Given the description of an element on the screen output the (x, y) to click on. 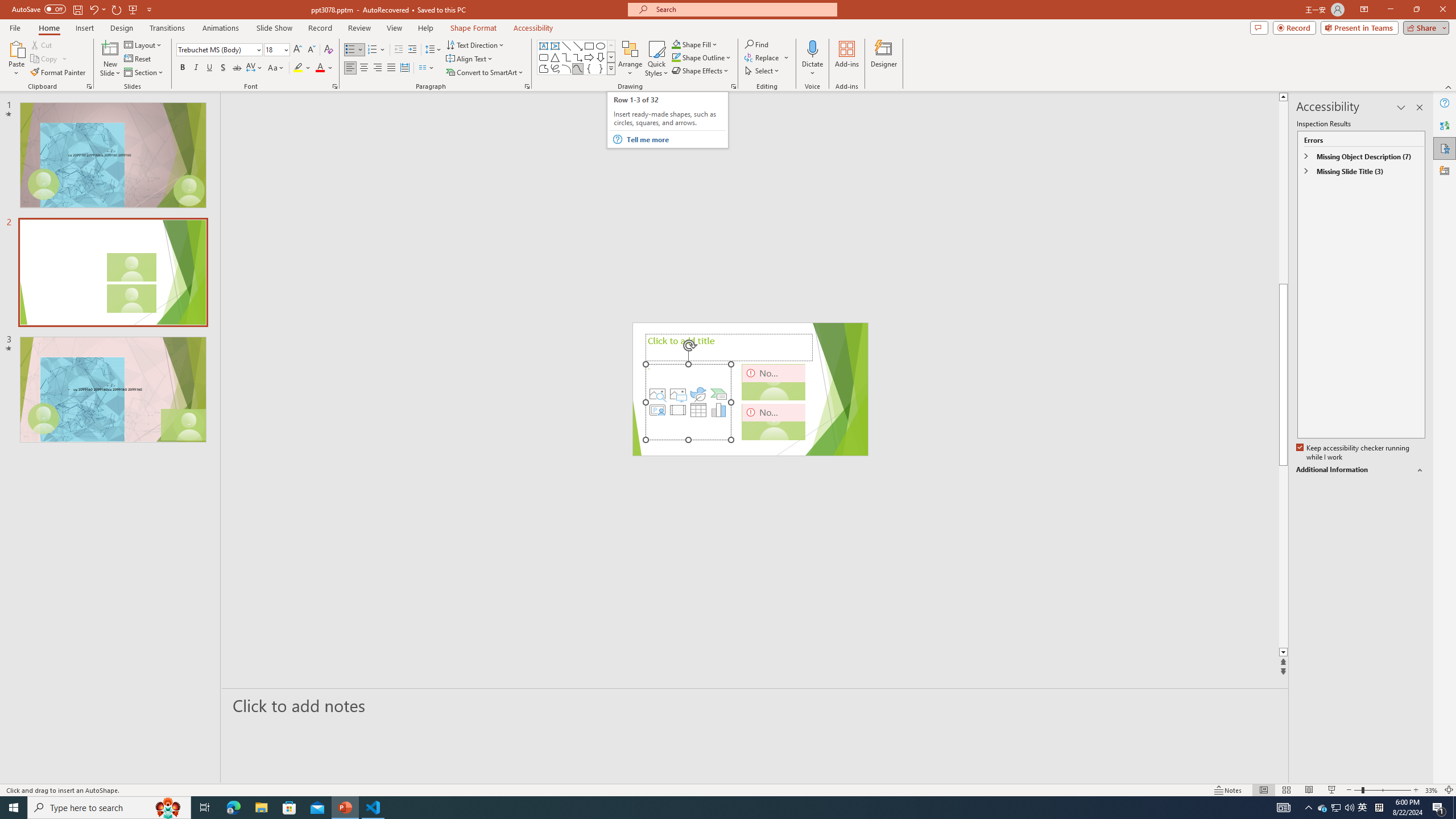
Insert a SmartArt Graphic (719, 394)
